Given the description of an element on the screen output the (x, y) to click on. 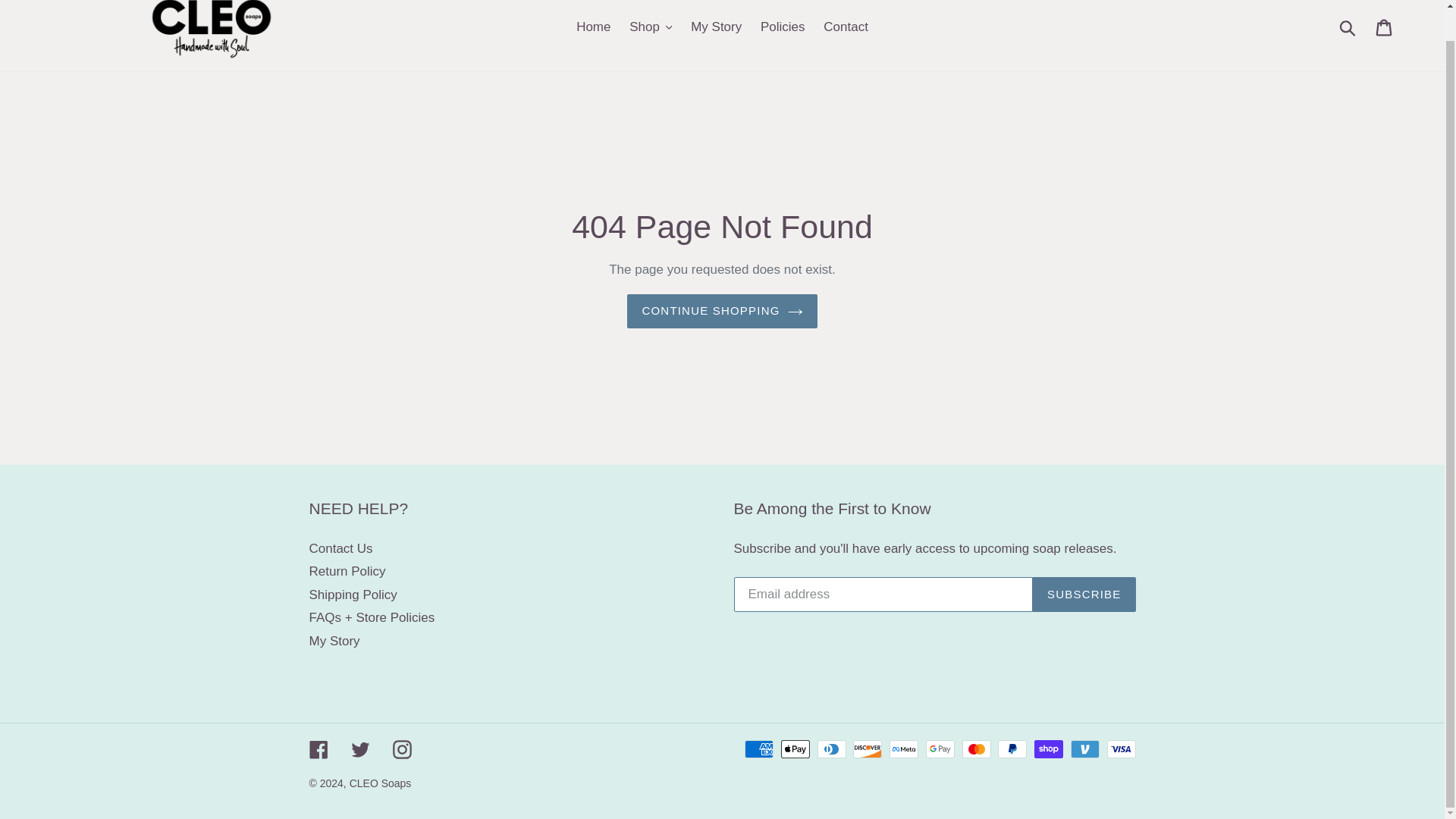
Facebook (318, 749)
SUBSCRIBE (1083, 594)
Instagram (402, 749)
Shipping Policy (352, 594)
Contact Us (340, 548)
My Story (333, 640)
CLEO Soaps (380, 783)
Policies (782, 27)
Submit (1348, 27)
Contact (845, 27)
Return Policy (346, 571)
CONTINUE SHOPPING (721, 311)
Cart (1385, 27)
Twitter (359, 749)
My Story (715, 27)
